Given the description of an element on the screen output the (x, y) to click on. 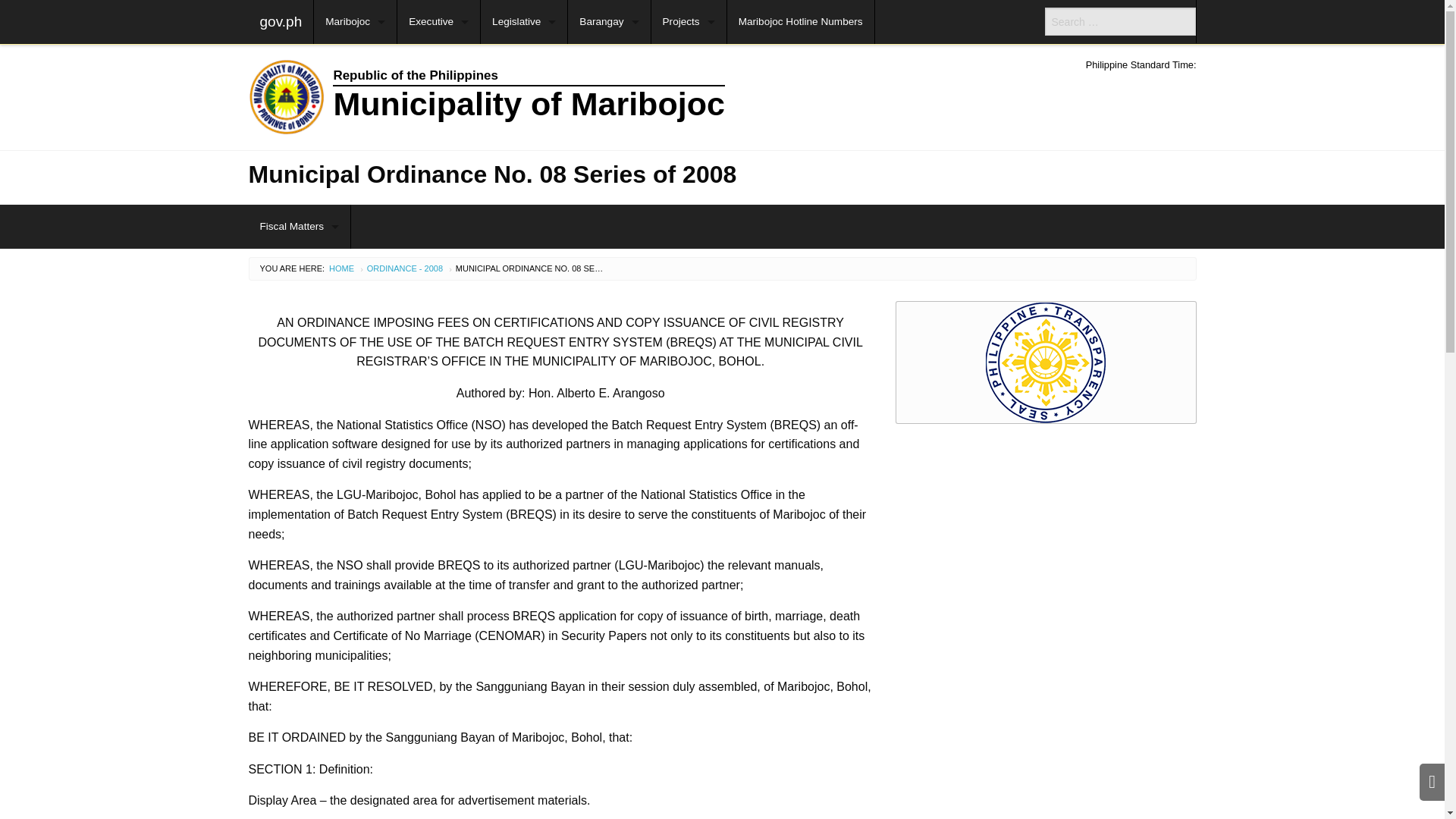
Search for: (1120, 21)
Transparency Seal (1045, 362)
Maribojoc Municipal Government (600, 96)
